Given the description of an element on the screen output the (x, y) to click on. 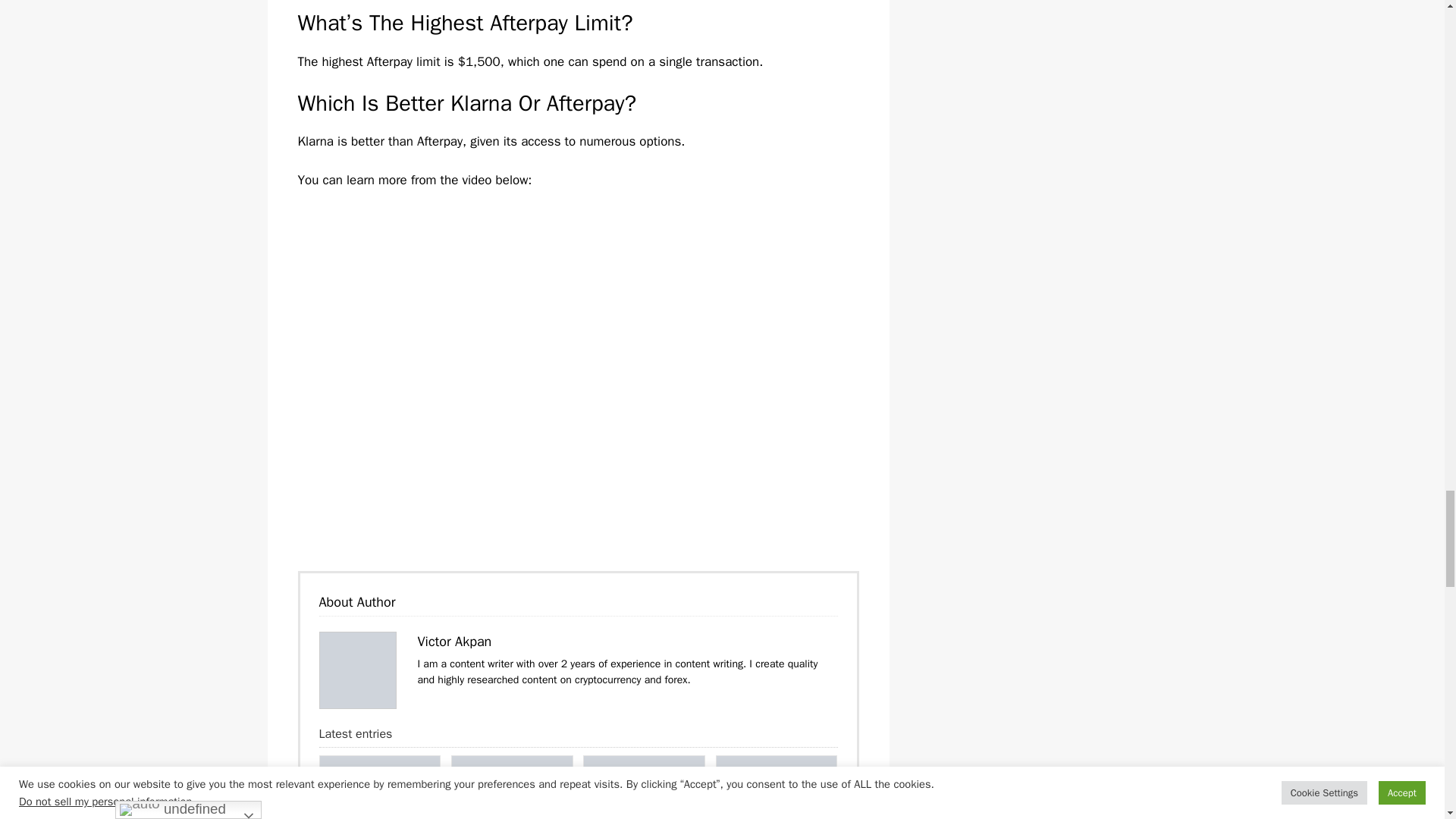
The Best Ways To Send Money From Qatar To Kenya 3 (643, 787)
Money Transfer (675, 816)
10 Best Apps to Buy Bitcoin In Mexico in 2023 2 (511, 787)
How Afterpay Works - What You Need To Know Before Sign Up 6 (357, 670)
10 Best Crypto Exchanges for Day Trading in Australia 2023 1 (380, 787)
Cryptocurrency (544, 816)
Cryptocurrency (411, 816)
Top 10 Growing NFT Startups To Look Out In 2023 4 (776, 787)
